Given the description of an element on the screen output the (x, y) to click on. 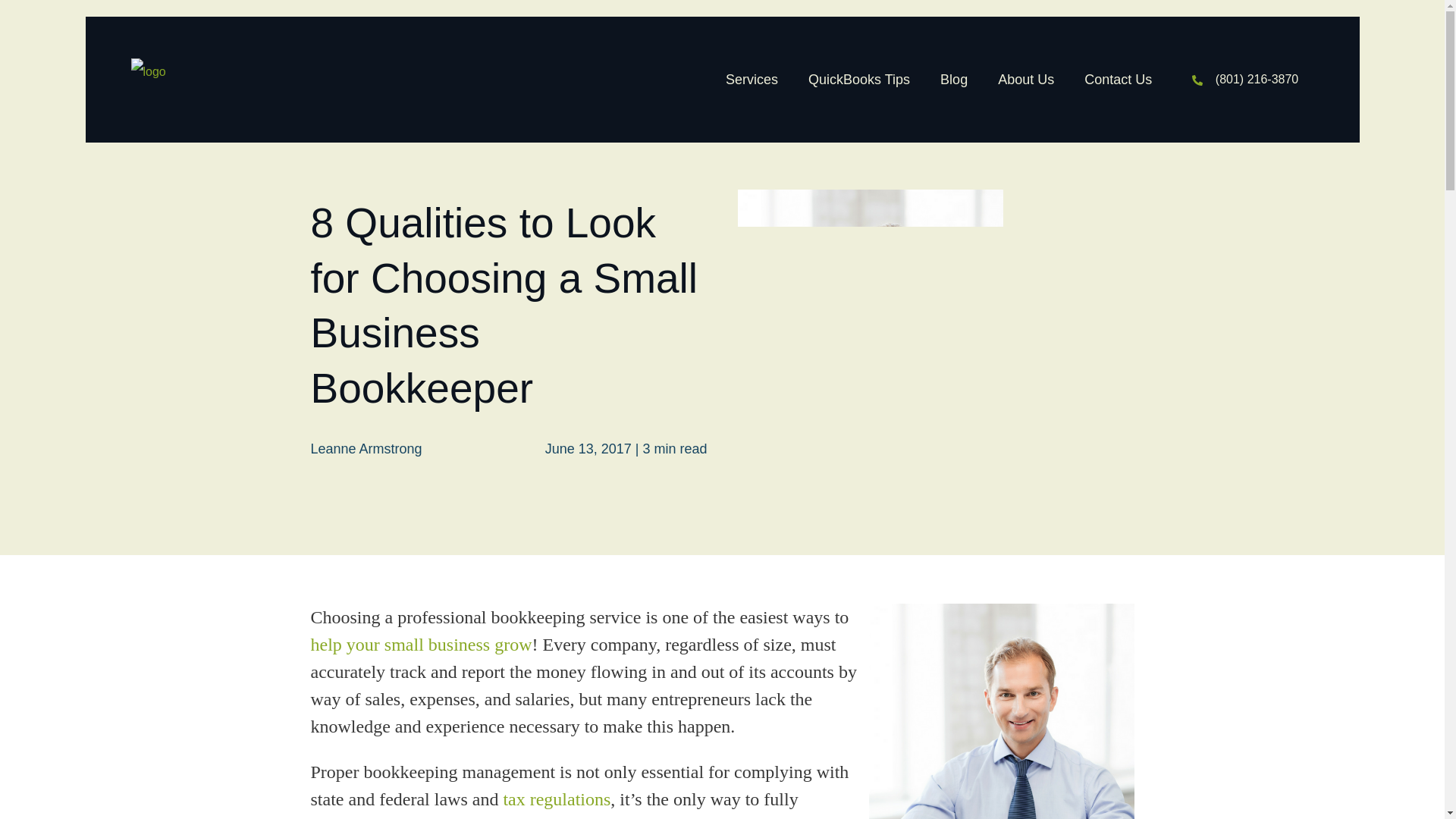
Blog (953, 79)
Contact Us (1117, 79)
Services (751, 79)
help your small business grow (421, 644)
About Us (1025, 79)
tax regulations (556, 799)
QuickBooks Tips (858, 79)
logo (148, 71)
